Given the description of an element on the screen output the (x, y) to click on. 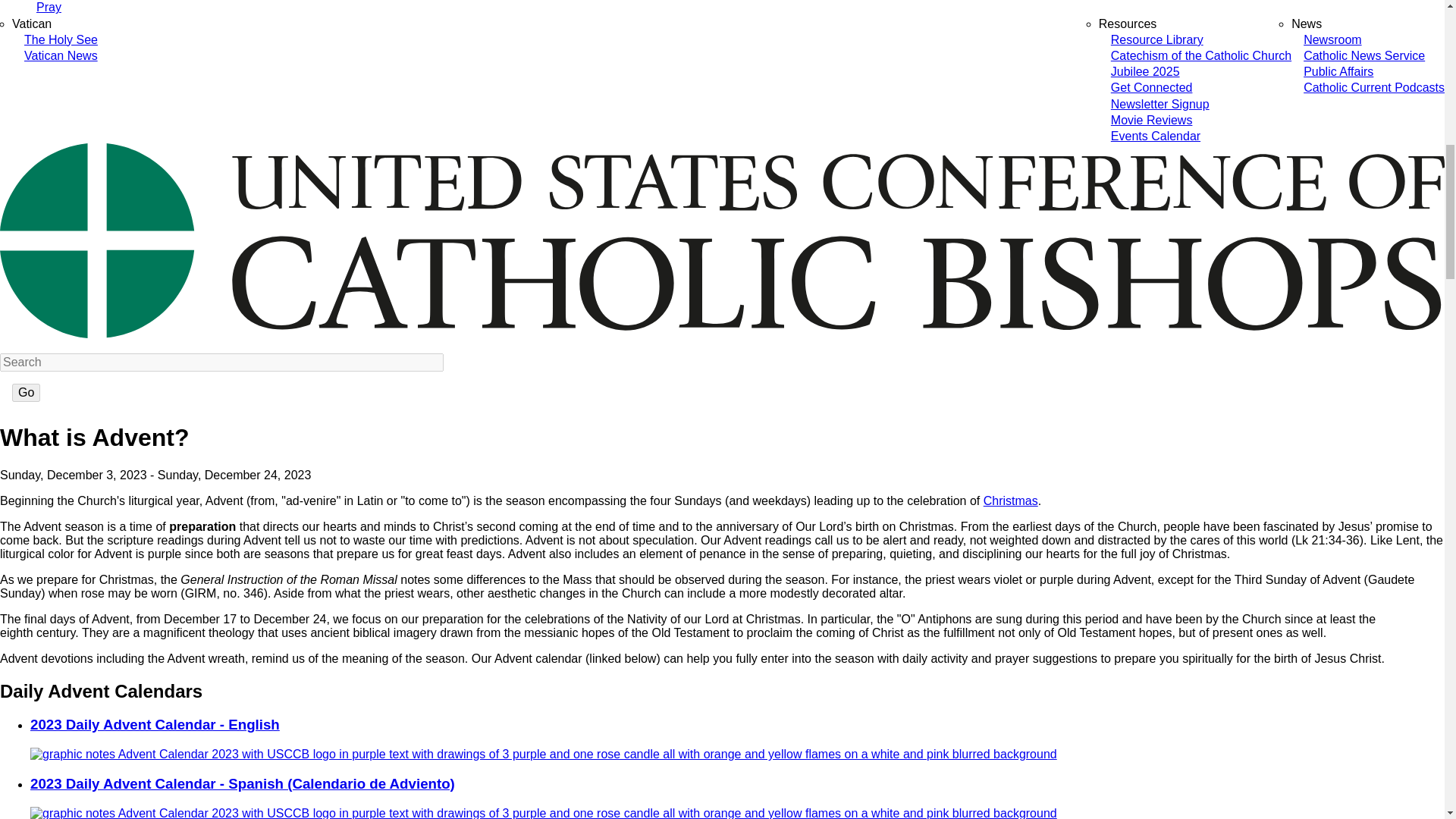
Go (25, 393)
News from the Vatican website (60, 55)
The Holy See Website (60, 39)
Link list for Vatican website (30, 23)
Link to USCCB Jubilee 2025  (1144, 71)
